Given the description of an element on the screen output the (x, y) to click on. 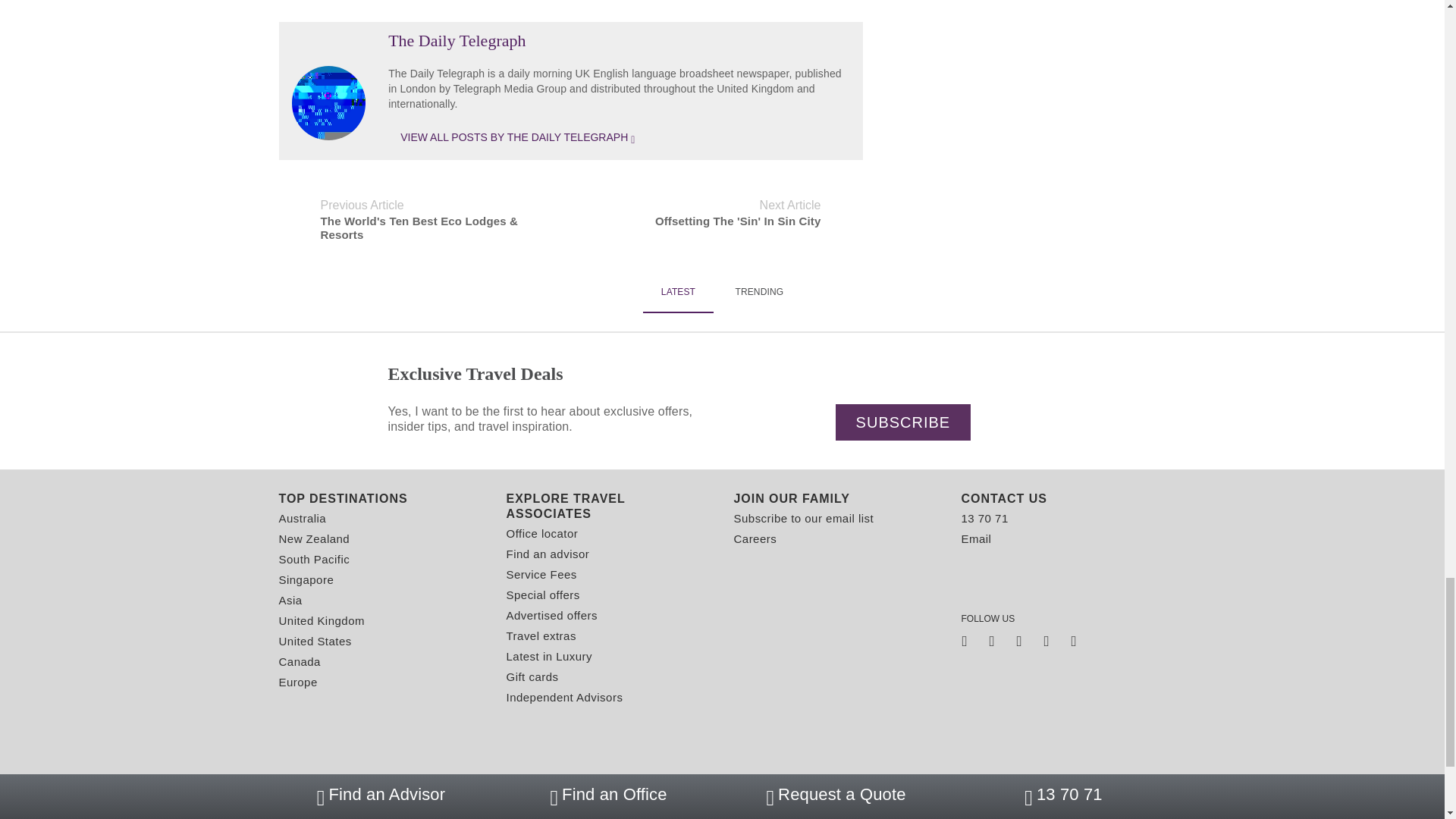
Contact Us (1063, 498)
Join our family (836, 498)
Explore Travel Associates (608, 506)
Top Destinations (381, 498)
